Given the description of an element on the screen output the (x, y) to click on. 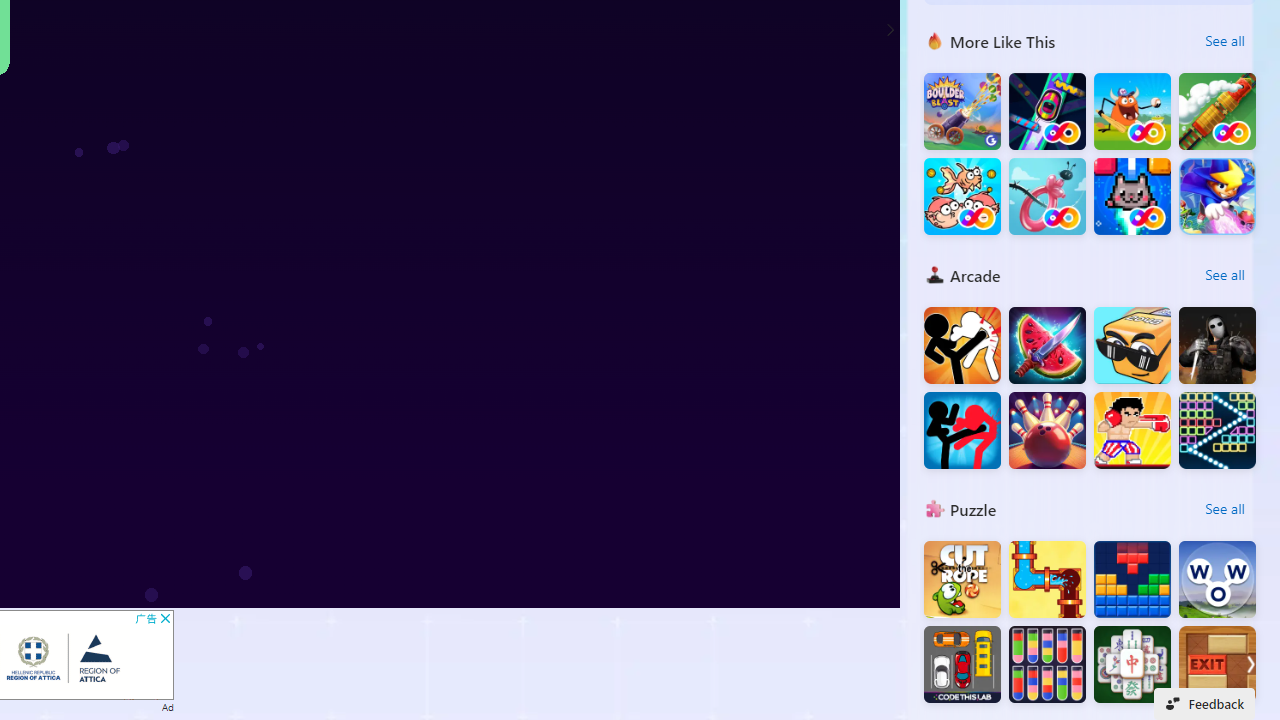
Gold Train FRVR (1217, 111)
Cubes2048 (1132, 345)
Water Sort Quest : Mission (1047, 664)
Plumber World (1047, 579)
Kitten Force FRVR (1132, 196)
EXIT : unblock red wood block (1217, 664)
